Given the description of an element on the screen output the (x, y) to click on. 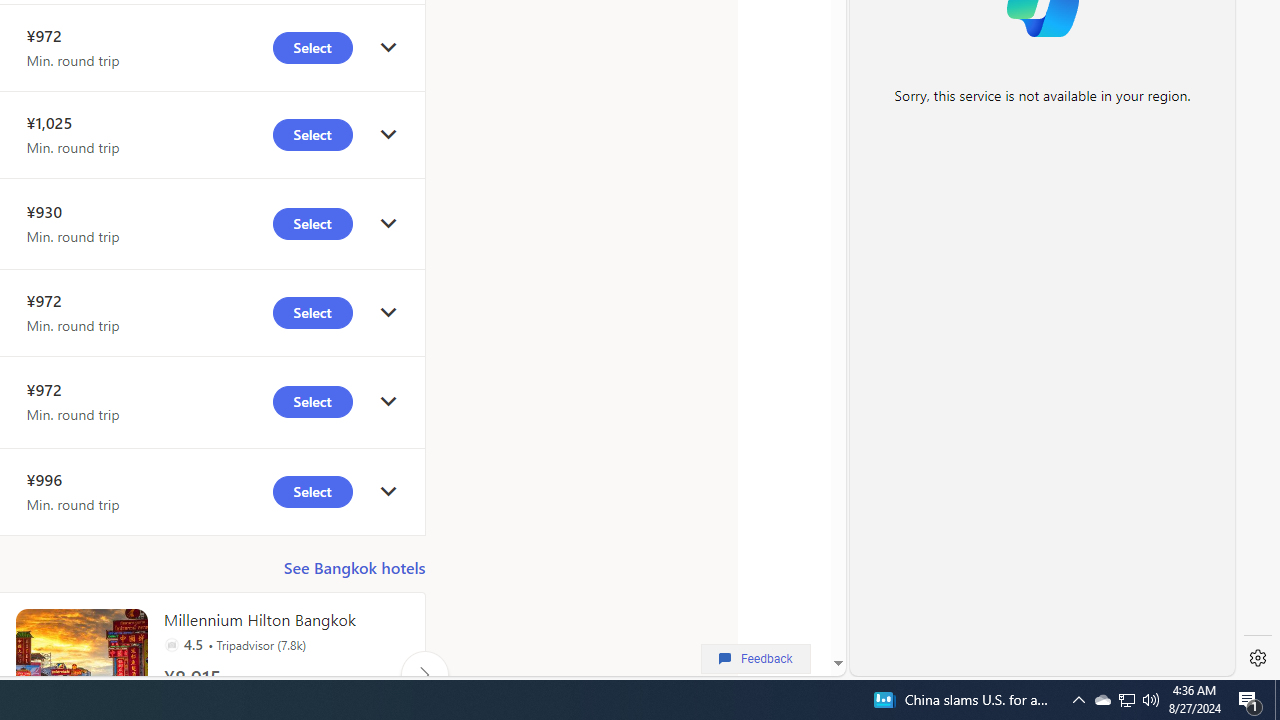
click to get details (388, 491)
Click to scroll right (424, 674)
Tripadvisor (171, 644)
